Given the description of an element on the screen output the (x, y) to click on. 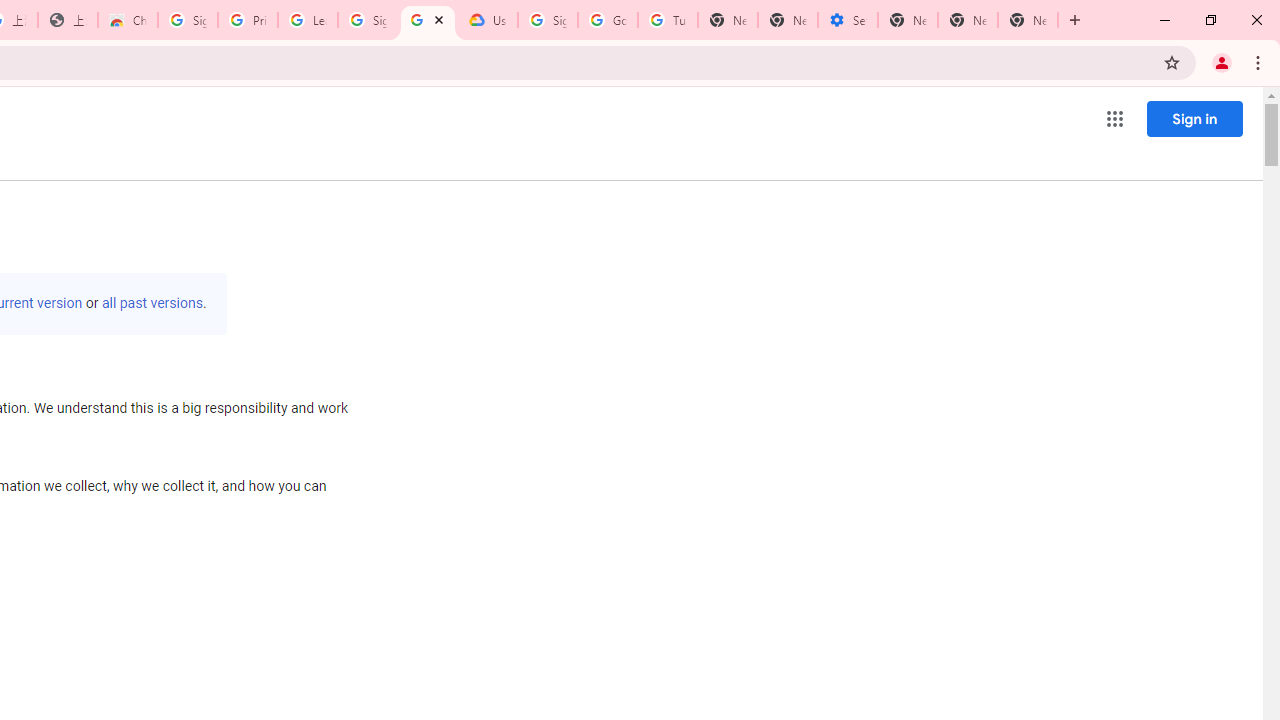
Chrome Web Store - Color themes by Chrome (127, 20)
all past versions (152, 303)
Sign in - Google Accounts (548, 20)
